Given the description of an element on the screen output the (x, y) to click on. 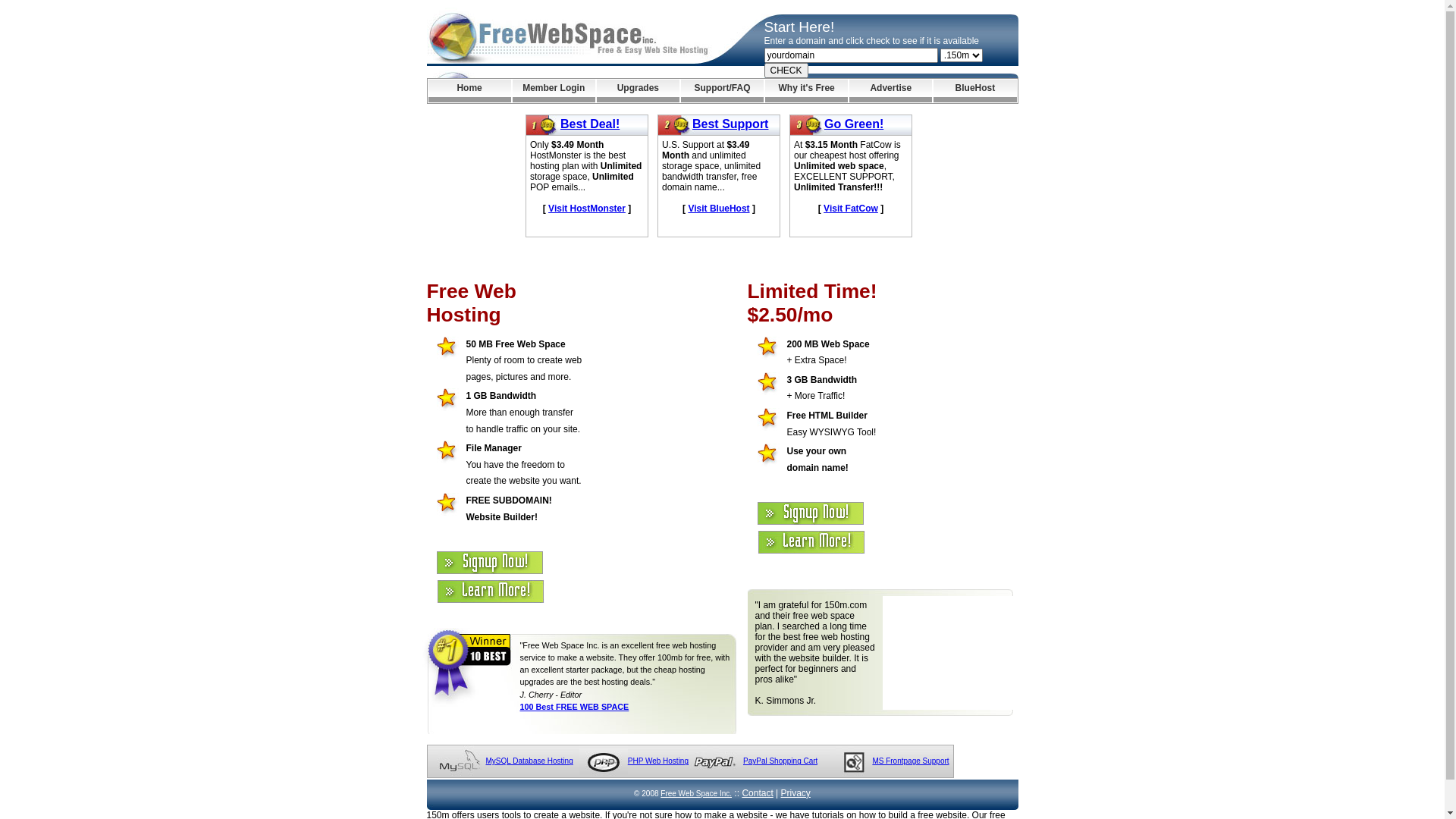
PayPal Shopping Cart Element type: text (780, 760)
MS Frontpage Support Element type: text (910, 760)
100 Best FREE WEB SPACE Element type: text (574, 706)
CHECK Element type: text (786, 70)
Free Web Space Inc. Element type: text (695, 793)
Privacy Element type: text (795, 792)
PHP Web Hosting Element type: text (657, 760)
Advertise Element type: text (890, 90)
Why it's Free Element type: text (806, 90)
Member Login Element type: text (553, 90)
MySQL Database Hosting Element type: text (528, 760)
BlueHost Element type: text (974, 90)
Contact Element type: text (756, 792)
Support/FAQ Element type: text (721, 90)
Upgrades Element type: text (637, 90)
Home Element type: text (468, 90)
